Given the description of an element on the screen output the (x, y) to click on. 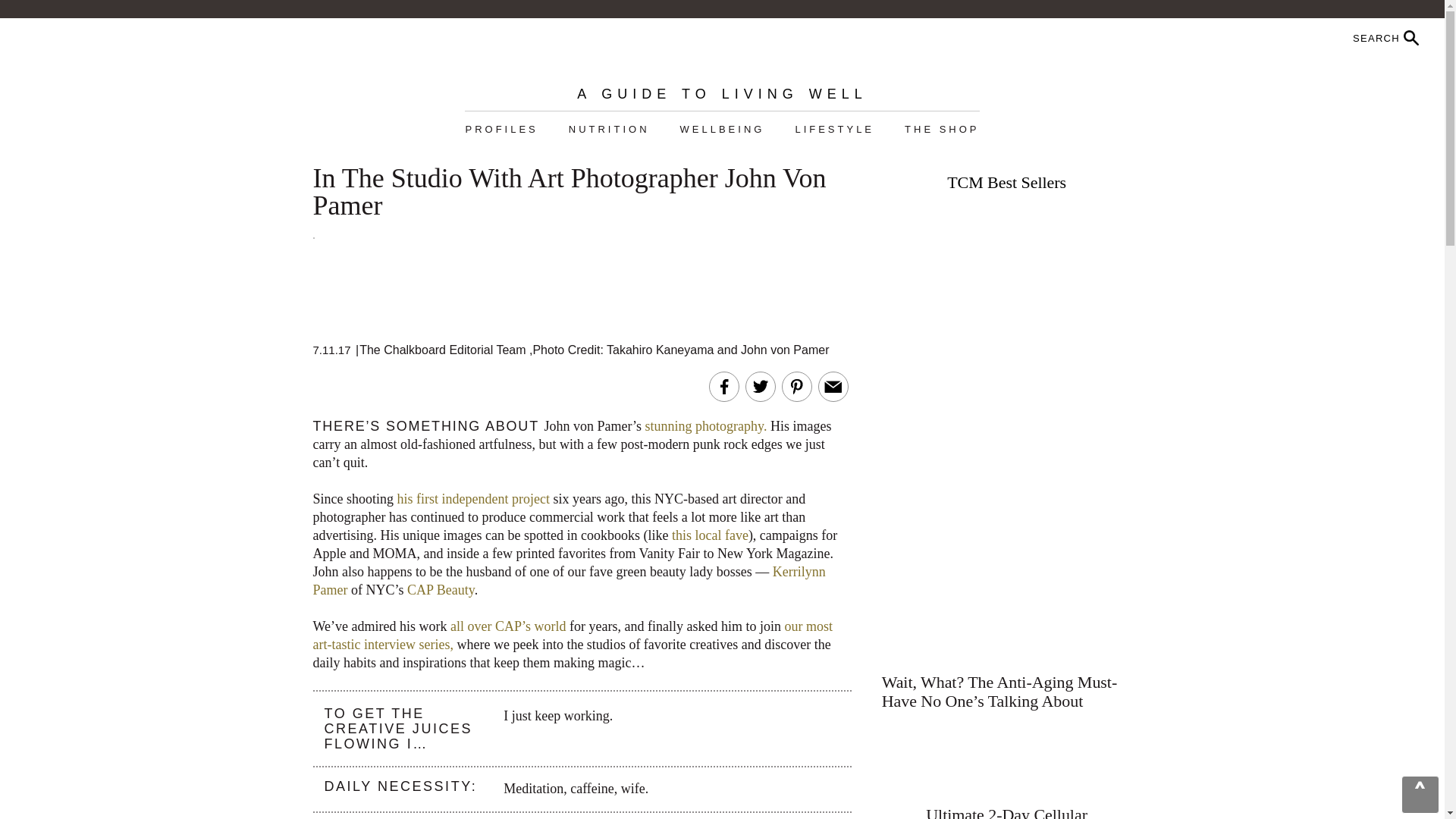
Share this article on Twitter (760, 386)
Search (1346, 37)
Share an image of this article on Pinterest (797, 386)
Email this article (833, 386)
Share this article on Facebook (724, 386)
The Chalkboard (721, 52)
